Given the description of an element on the screen output the (x, y) to click on. 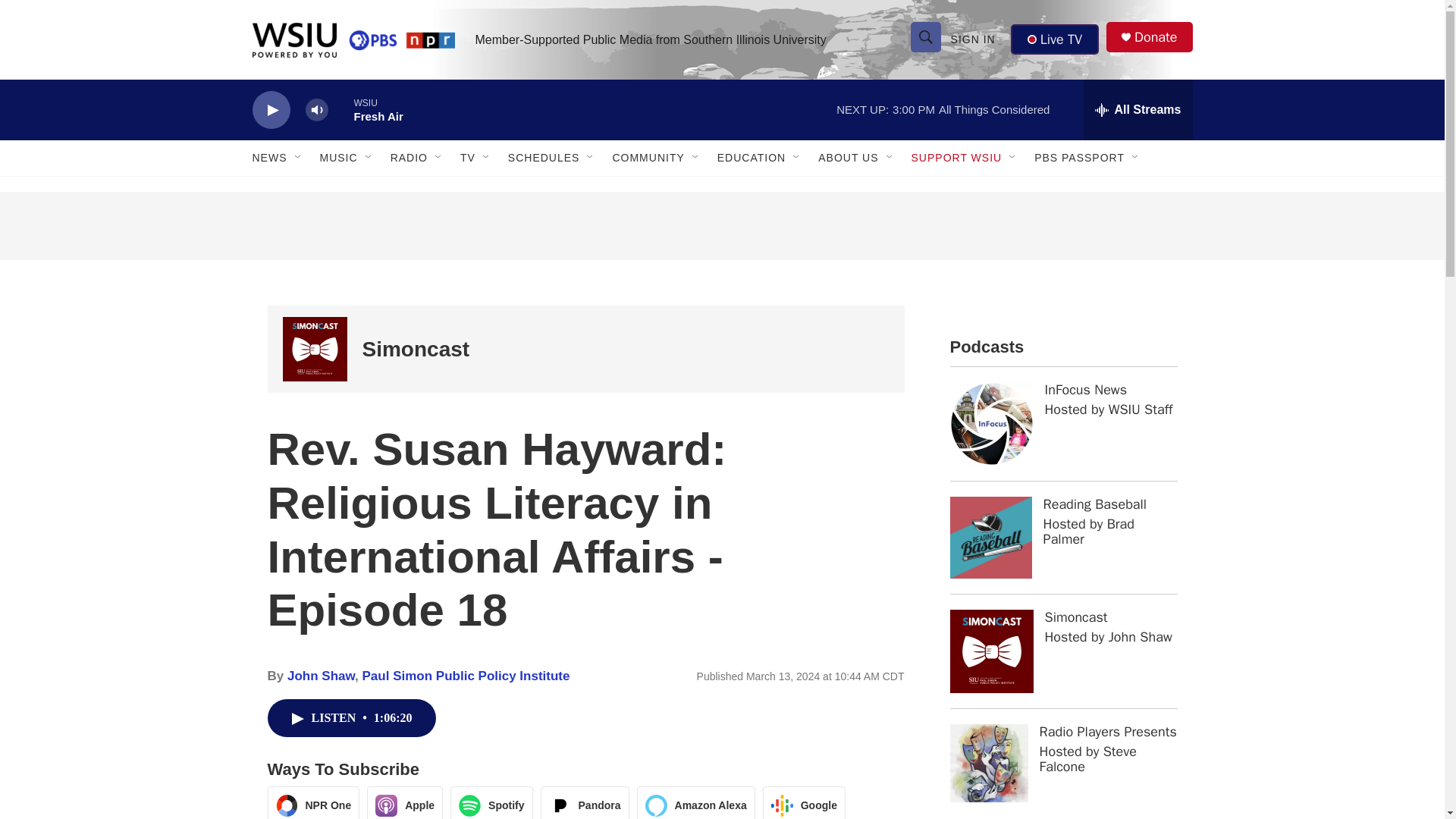
3rd party ad content (721, 225)
